Given the description of an element on the screen output the (x, y) to click on. 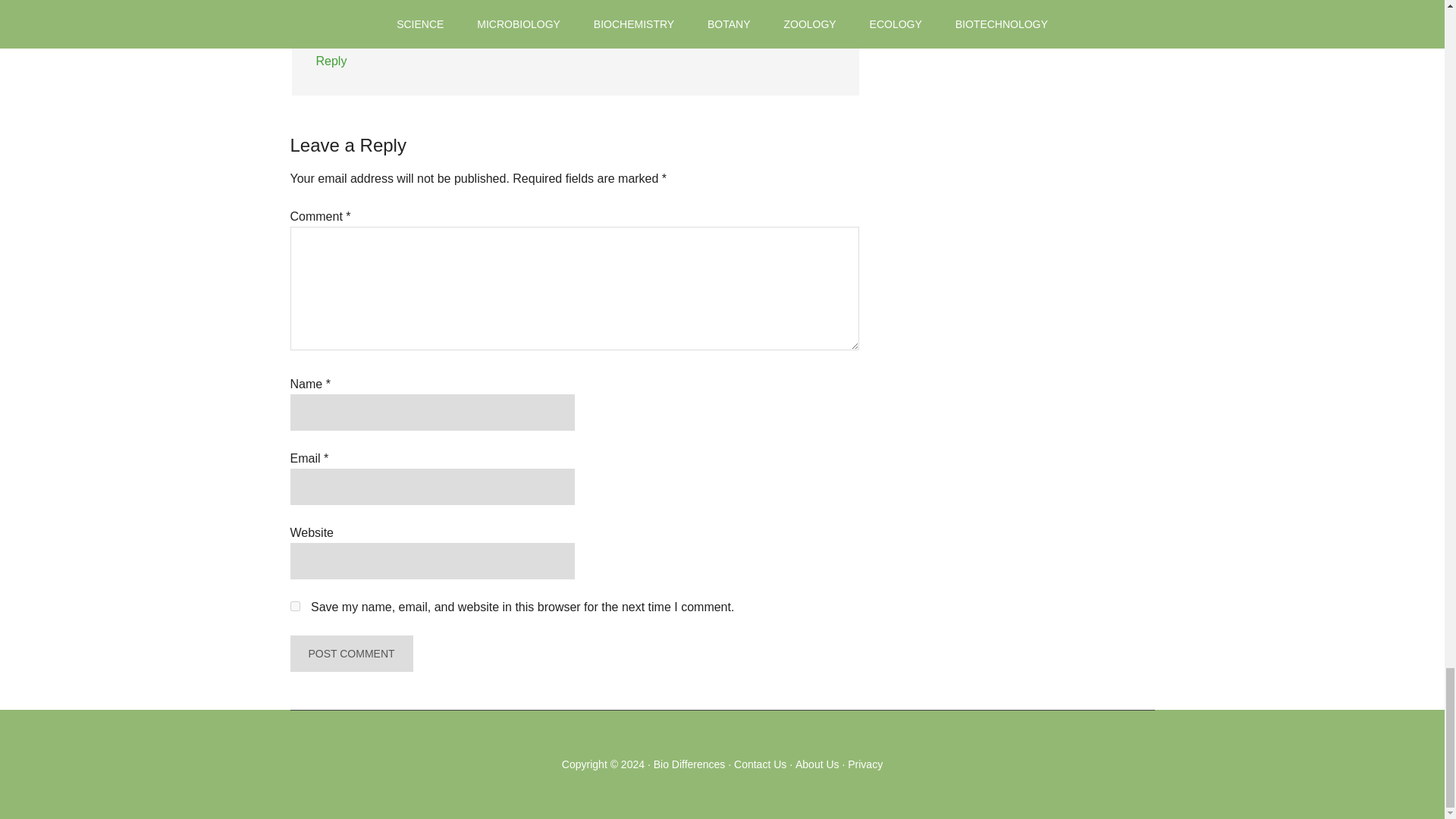
About Us (817, 764)
Post Comment (350, 653)
Reply (330, 60)
Privacy (864, 764)
yes (294, 605)
Post Comment (350, 653)
Contact Us (759, 764)
